Given the description of an element on the screen output the (x, y) to click on. 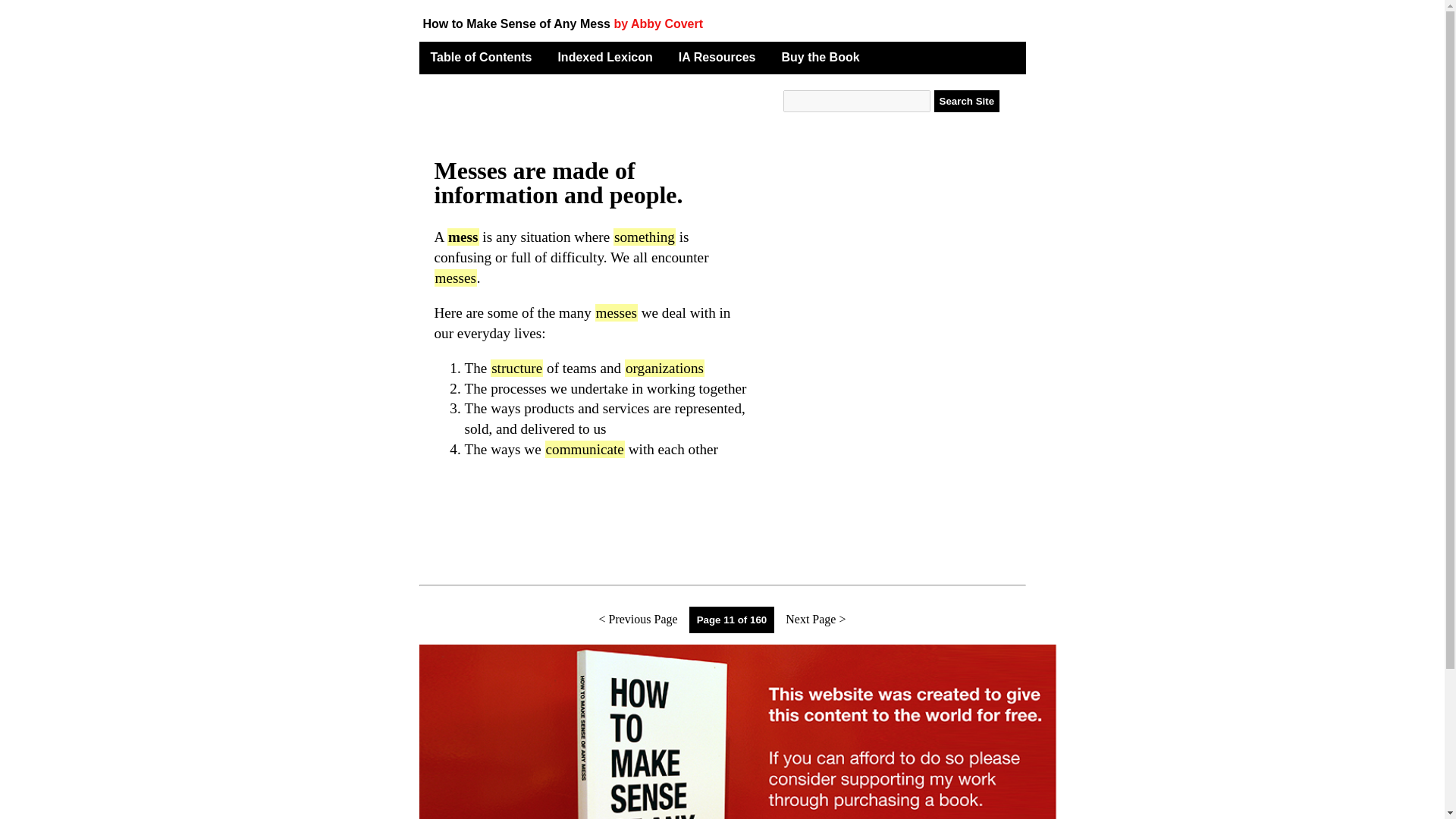
something (643, 236)
Buy the Book (820, 57)
Page 11 of 160 (732, 619)
Indexed Lexicon (604, 57)
communicate (584, 448)
by Abby Covert (657, 23)
messes (454, 277)
IA Resources (716, 57)
mess (462, 236)
Search Site (966, 101)
